Given the description of an element on the screen output the (x, y) to click on. 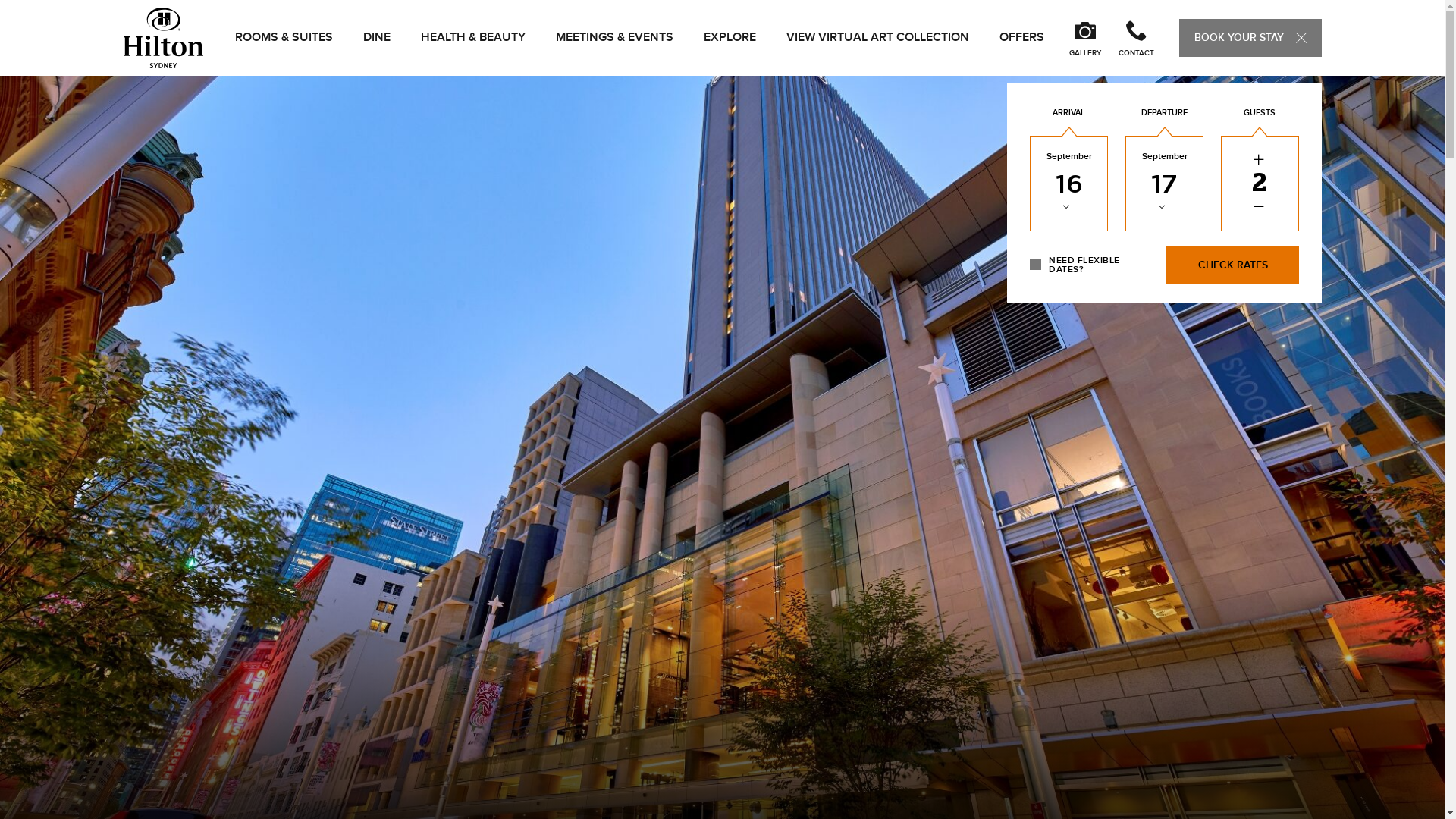
Go to Hilton Sydney home page Element type: hover (162, 37)
ROOMS & SUITES Element type: text (283, 37)
CHECK RATES Element type: text (1232, 265)
VIEW VIRTUAL ART COLLECTION Element type: text (876, 37)
GALLERY Element type: text (1084, 37)
BOOK YOUR STAY Element type: text (1249, 37)
HEALTH & BEAUTY Element type: text (471, 37)
DINE Element type: text (375, 37)
CONTACT Element type: text (1135, 37)
OFFERS Element type: text (1021, 37)
EXPLORE Element type: text (729, 37)
MEETINGS & EVENTS Element type: text (613, 37)
